Given the description of an element on the screen output the (x, y) to click on. 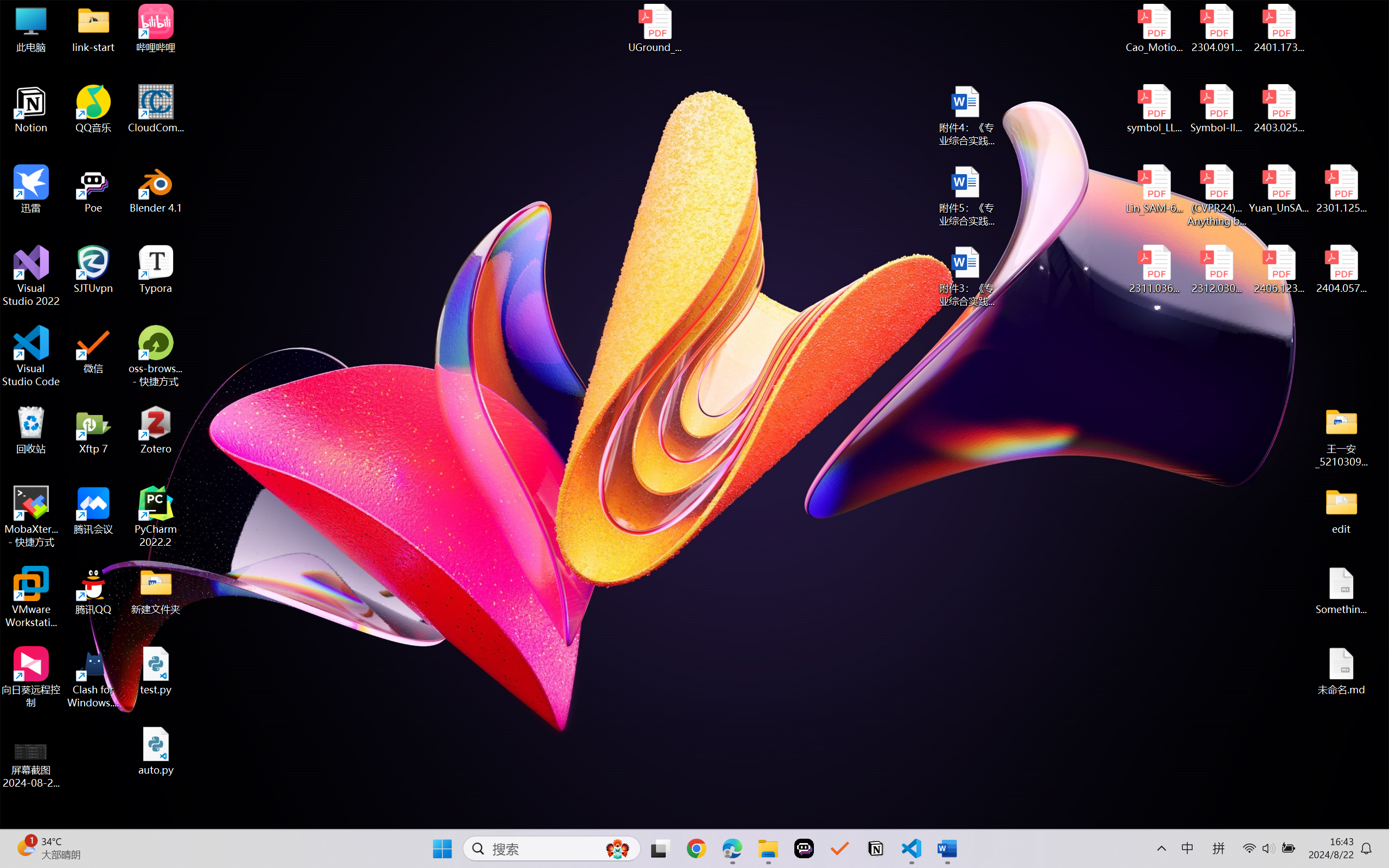
2403.02502v1.pdf (1278, 109)
2406.12373v2.pdf (1278, 269)
VMware Workstation Pro (31, 597)
auto.py (156, 751)
Typora (156, 269)
Visual Studio 2022 (31, 276)
